Given the description of an element on the screen output the (x, y) to click on. 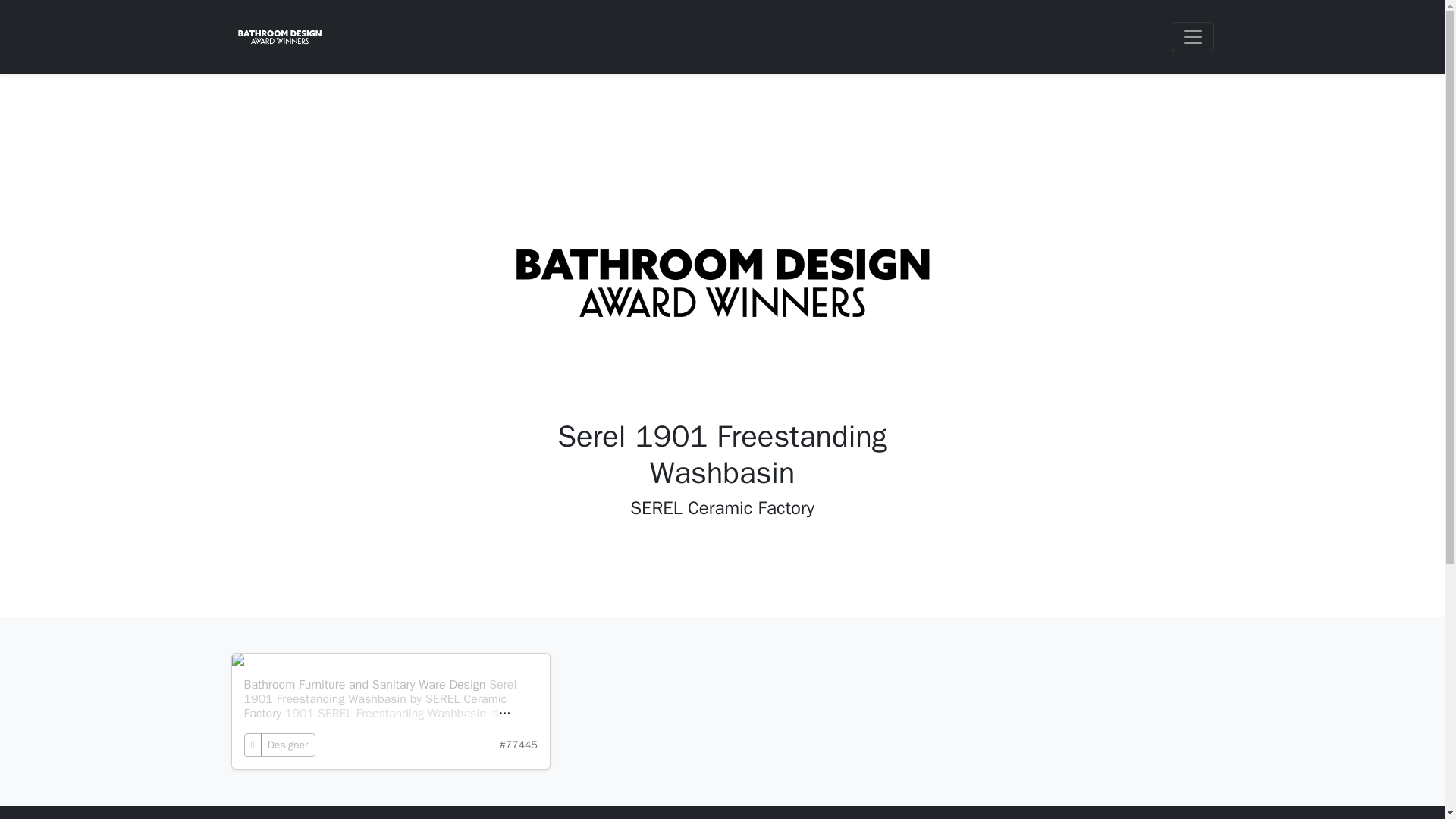
Designer (287, 744)
